Given the description of an element on the screen output the (x, y) to click on. 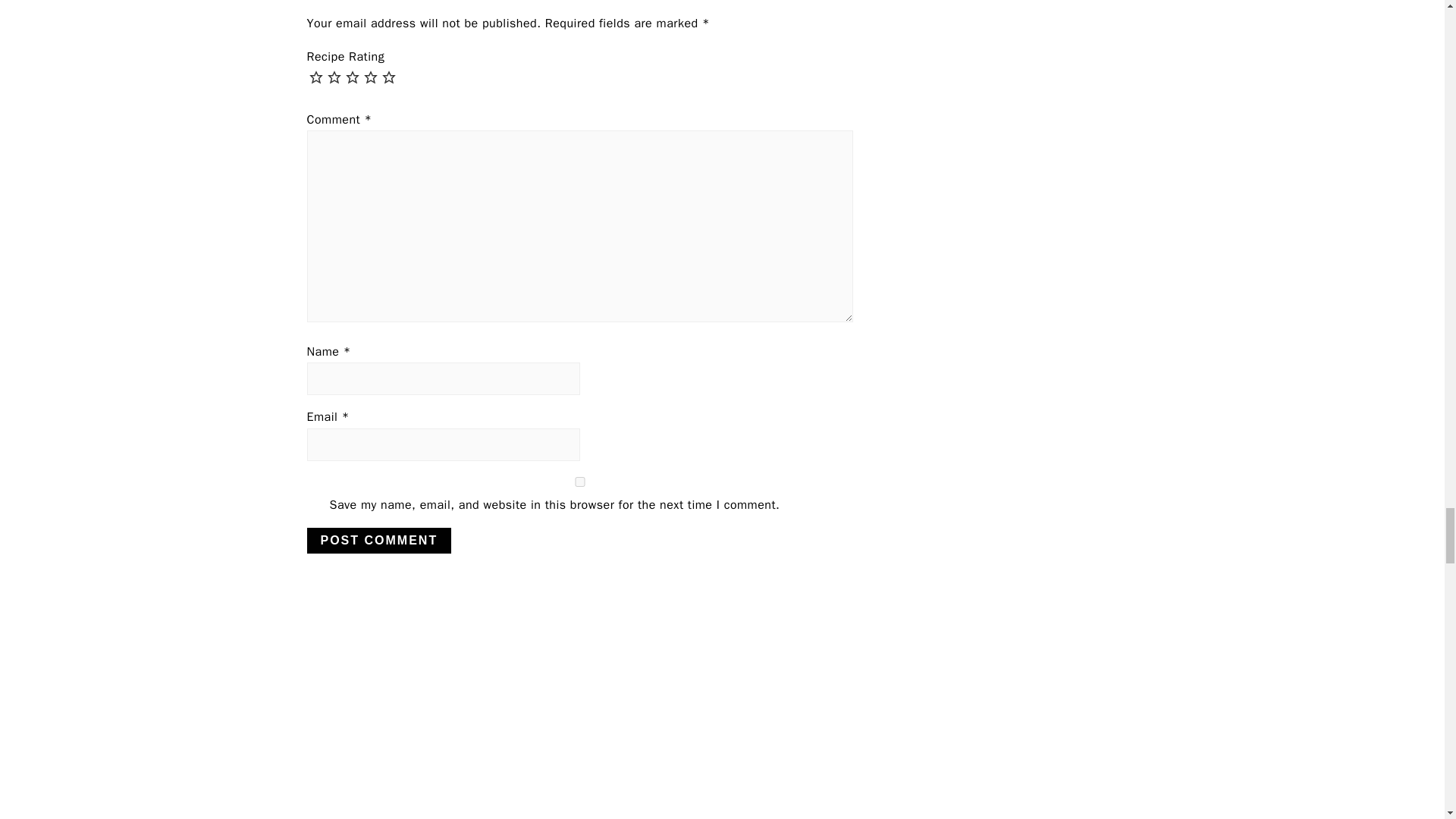
yes (578, 481)
Post Comment (378, 540)
